Given the description of an element on the screen output the (x, y) to click on. 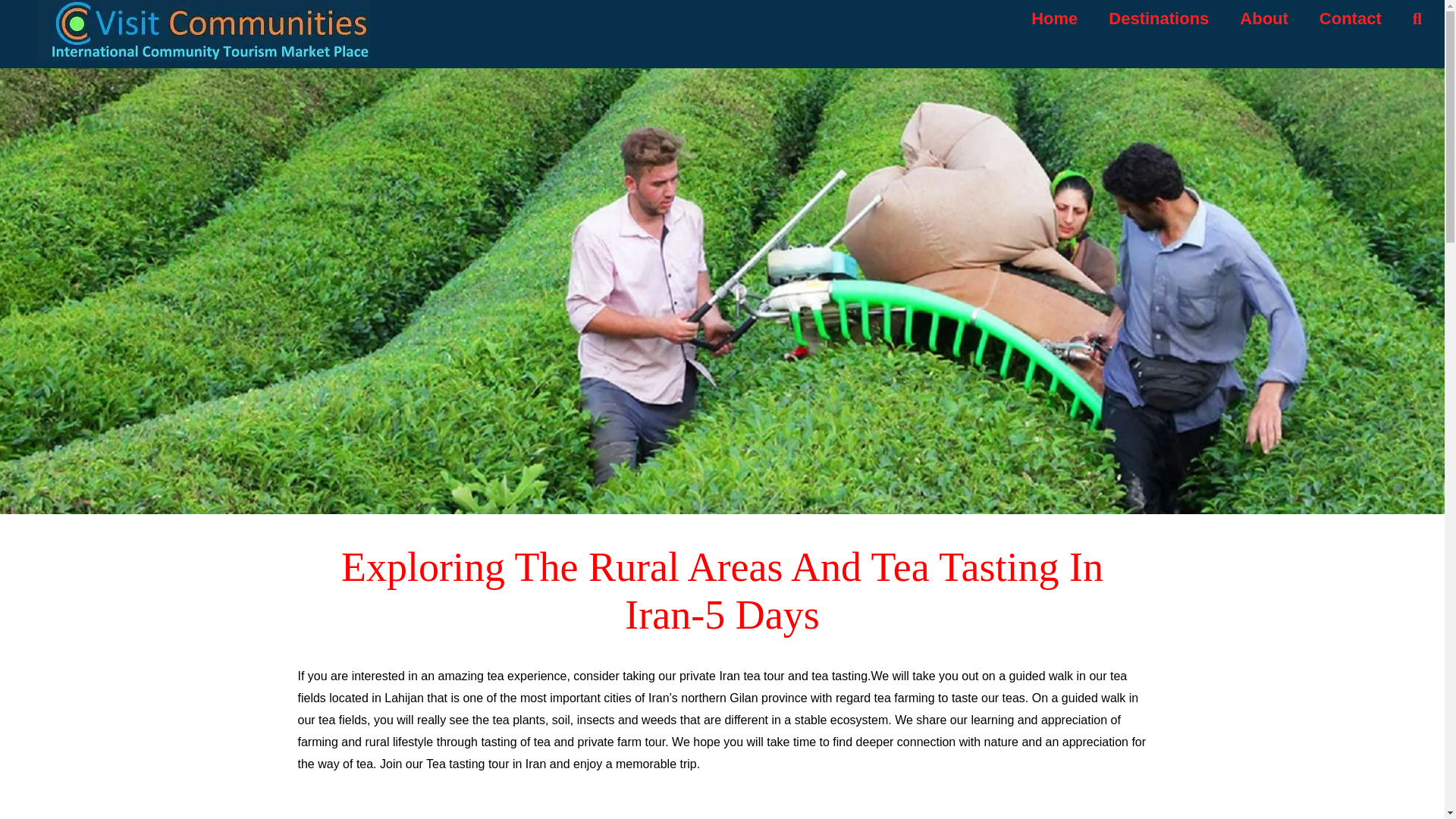
Destinations (1158, 18)
Home (1053, 18)
Search (1417, 18)
Contact (1350, 18)
About (1264, 18)
